Given the description of an element on the screen output the (x, y) to click on. 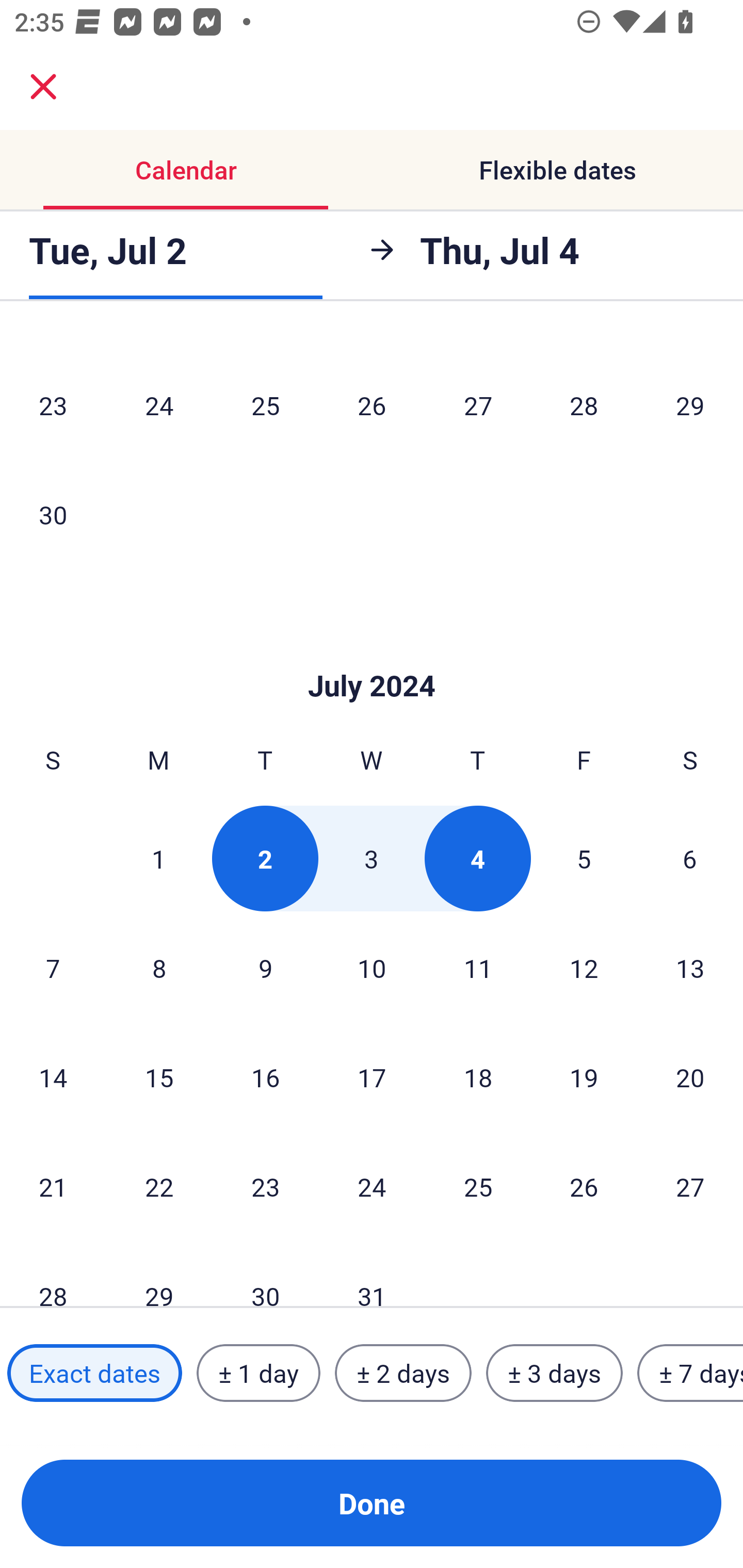
close. (43, 86)
Flexible dates (557, 170)
23 Sunday, June 23, 2024 (53, 404)
24 Monday, June 24, 2024 (159, 404)
25 Tuesday, June 25, 2024 (265, 404)
26 Wednesday, June 26, 2024 (371, 404)
27 Thursday, June 27, 2024 (477, 404)
28 Friday, June 28, 2024 (584, 404)
29 Saturday, June 29, 2024 (690, 404)
30 Sunday, June 30, 2024 (53, 513)
Skip to Done (371, 654)
1 Monday, July 1, 2024 (158, 858)
5 Friday, July 5, 2024 (583, 858)
6 Saturday, July 6, 2024 (689, 858)
7 Sunday, July 7, 2024 (53, 967)
8 Monday, July 8, 2024 (159, 967)
9 Tuesday, July 9, 2024 (265, 967)
10 Wednesday, July 10, 2024 (371, 967)
11 Thursday, July 11, 2024 (477, 967)
12 Friday, July 12, 2024 (584, 967)
13 Saturday, July 13, 2024 (690, 967)
14 Sunday, July 14, 2024 (53, 1076)
15 Monday, July 15, 2024 (159, 1076)
16 Tuesday, July 16, 2024 (265, 1076)
17 Wednesday, July 17, 2024 (371, 1076)
18 Thursday, July 18, 2024 (477, 1076)
19 Friday, July 19, 2024 (584, 1076)
20 Saturday, July 20, 2024 (690, 1076)
21 Sunday, July 21, 2024 (53, 1185)
22 Monday, July 22, 2024 (159, 1185)
23 Tuesday, July 23, 2024 (265, 1185)
24 Wednesday, July 24, 2024 (371, 1185)
25 Thursday, July 25, 2024 (477, 1185)
26 Friday, July 26, 2024 (584, 1185)
27 Saturday, July 27, 2024 (690, 1185)
28 Sunday, July 28, 2024 (53, 1274)
29 Monday, July 29, 2024 (159, 1274)
30 Tuesday, July 30, 2024 (265, 1274)
31 Wednesday, July 31, 2024 (371, 1274)
Exact dates (94, 1372)
± 1 day (258, 1372)
± 2 days (403, 1372)
± 3 days (553, 1372)
± 7 days (690, 1372)
Done (371, 1502)
